Given the description of an element on the screen output the (x, y) to click on. 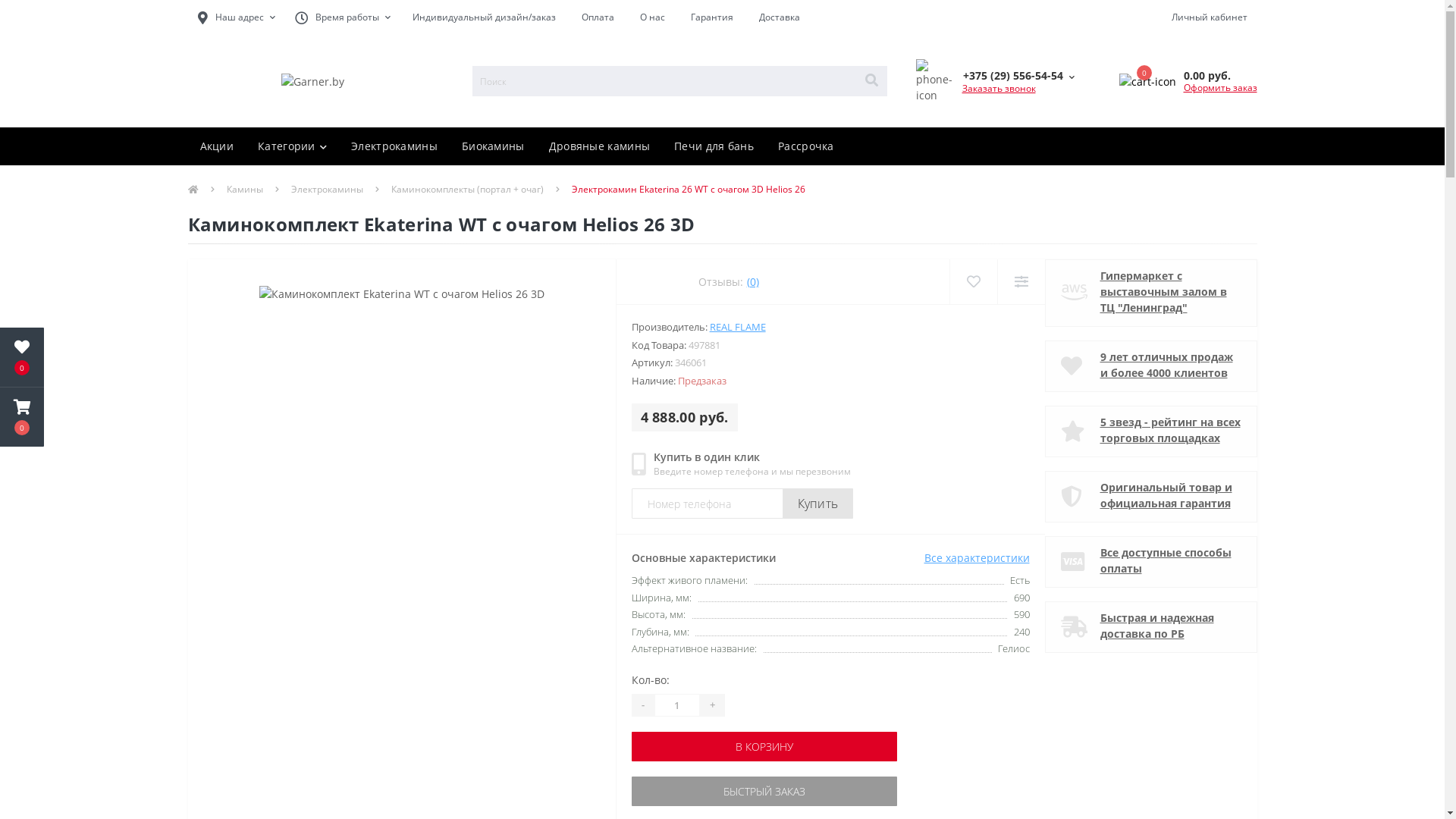
(0) Element type: text (752, 281)
- Element type: text (642, 704)
REAL FLAME Element type: text (737, 326)
+ Element type: text (711, 704)
0 Element type: text (21, 356)
0 Element type: text (21, 416)
0 Element type: text (1147, 81)
Garner.by Element type: hover (312, 81)
+375 (29) 556-54-54 Element type: text (1017, 75)
